Given the description of an element on the screen output the (x, y) to click on. 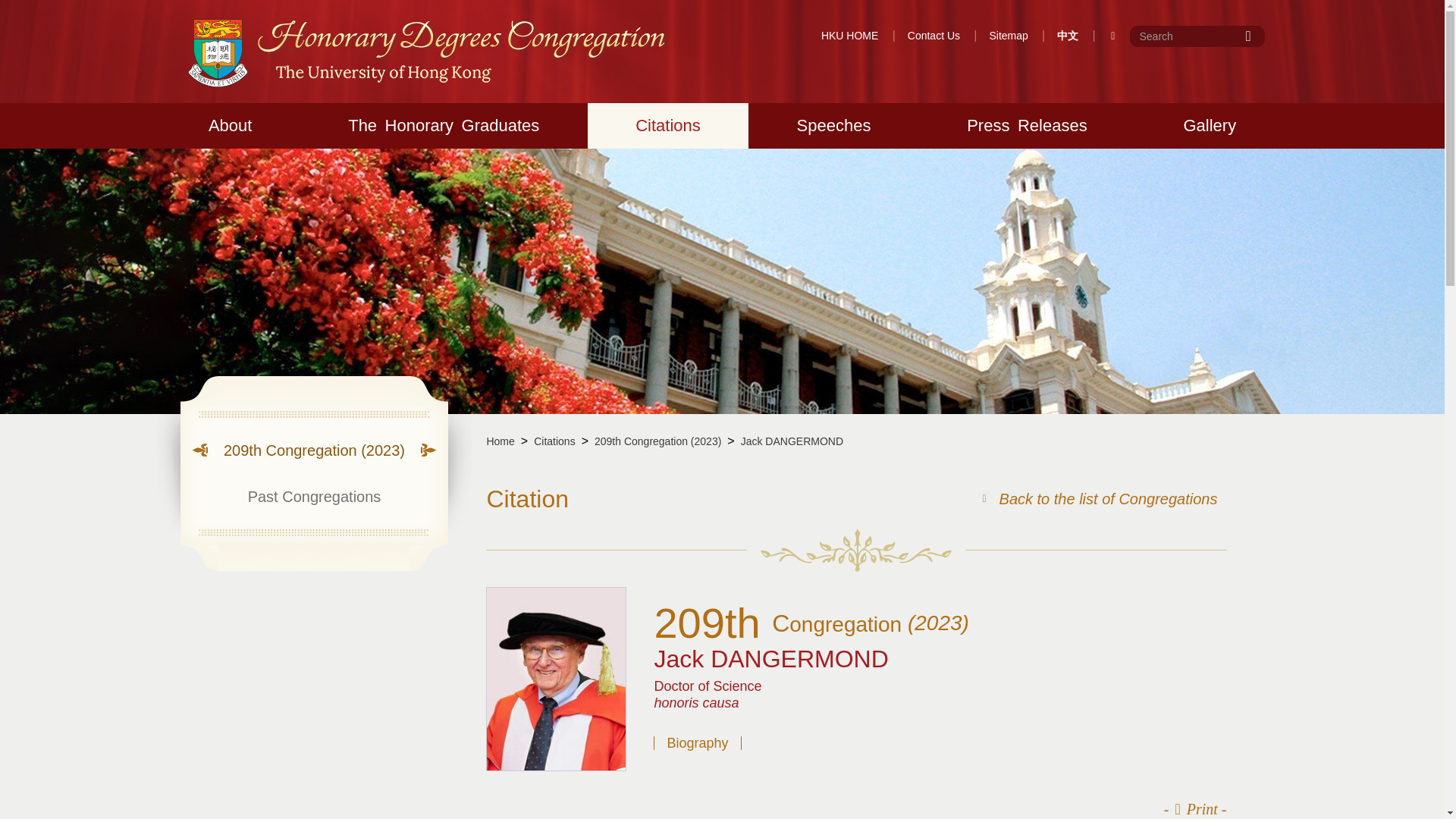
Citations (668, 125)
The Honorary Graduates (443, 125)
Speeches (833, 125)
Press Releases (1026, 125)
Gallery (1209, 125)
About (229, 125)
Search Box (1197, 35)
Go (1249, 35)
Contact Us (933, 35)
HKU HOME (849, 35)
Sitemap (1007, 35)
